Given the description of an element on the screen output the (x, y) to click on. 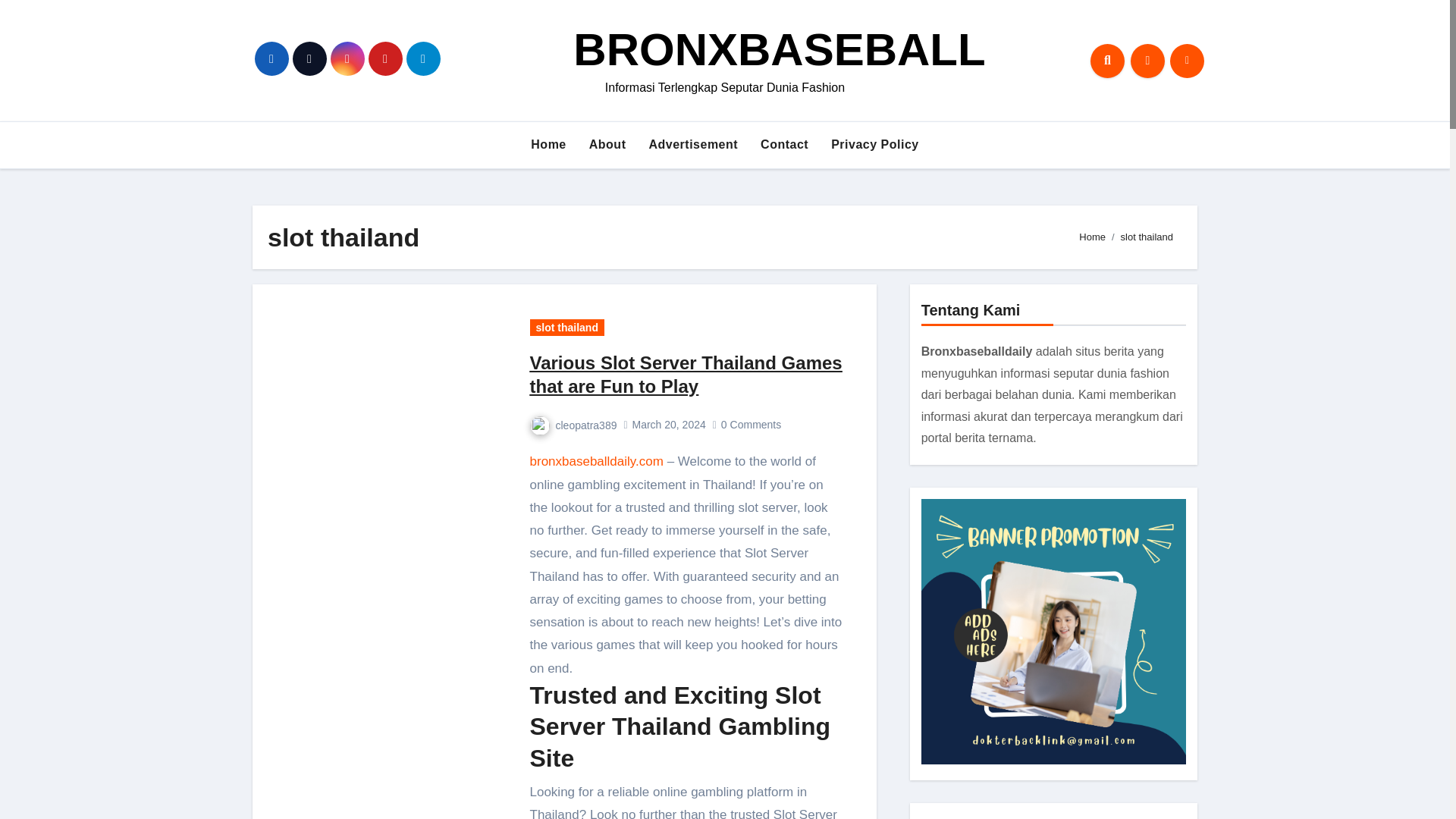
March 20, 2024 (667, 424)
About (607, 144)
Various Slot Server Thailand Games that are Fun to Play (685, 374)
Home (547, 144)
Advertisement (693, 144)
BRONXBASEBALL (779, 49)
slot thailand (566, 327)
0Comments (752, 424)
Privacy Policy (874, 144)
Home (1091, 236)
Home (547, 144)
cleopatra389 (572, 424)
Contact (784, 144)
bronxbaseballdaily.com (595, 461)
